Given the description of an element on the screen output the (x, y) to click on. 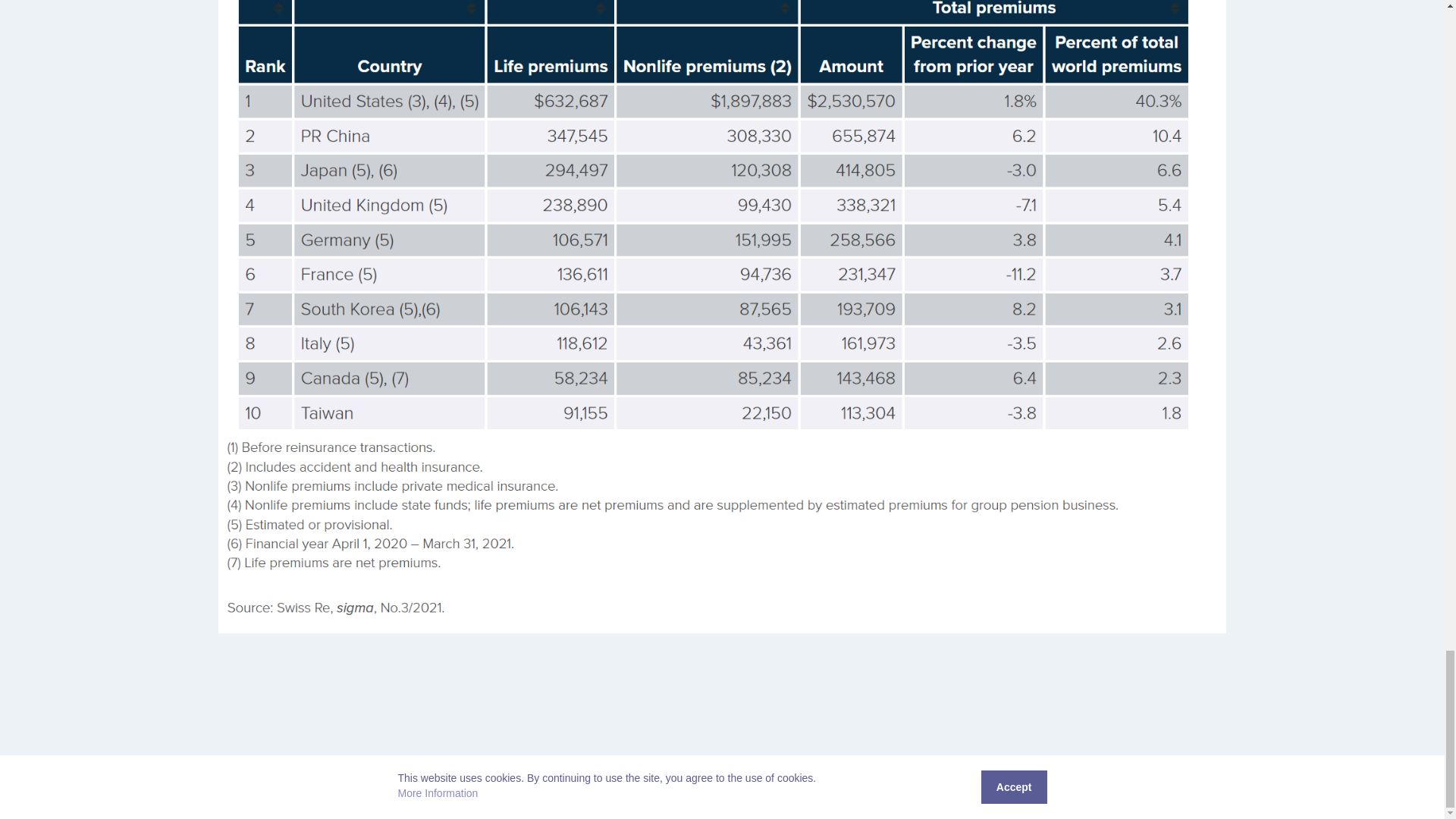
Privacy Policy (1355, 796)
Credits (1296, 796)
Resources (1246, 796)
Imprint (1412, 796)
